Given the description of an element on the screen output the (x, y) to click on. 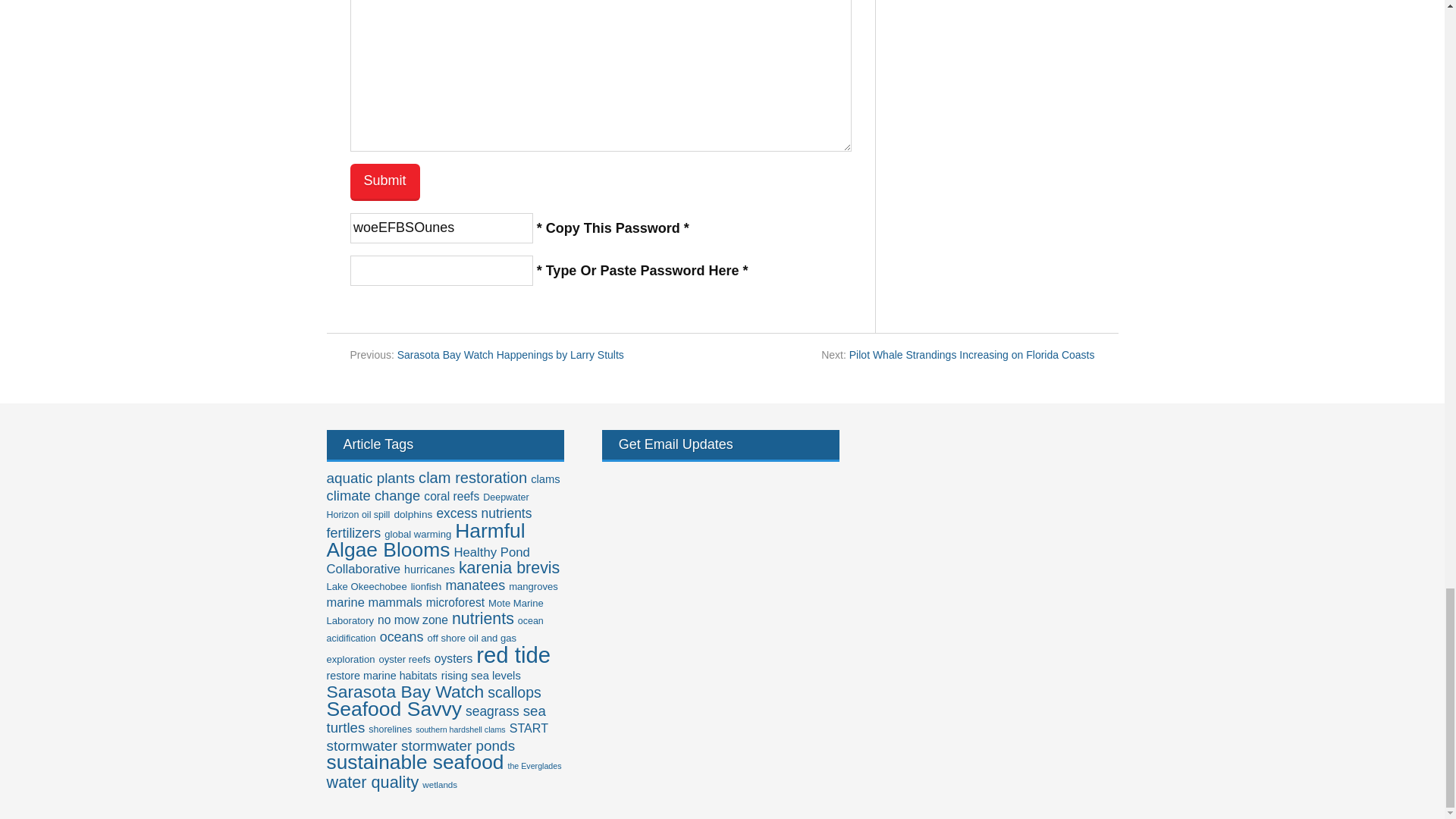
woeEFBSOunes (441, 227)
Submit (385, 181)
Submit (385, 181)
